Given the description of an element on the screen output the (x, y) to click on. 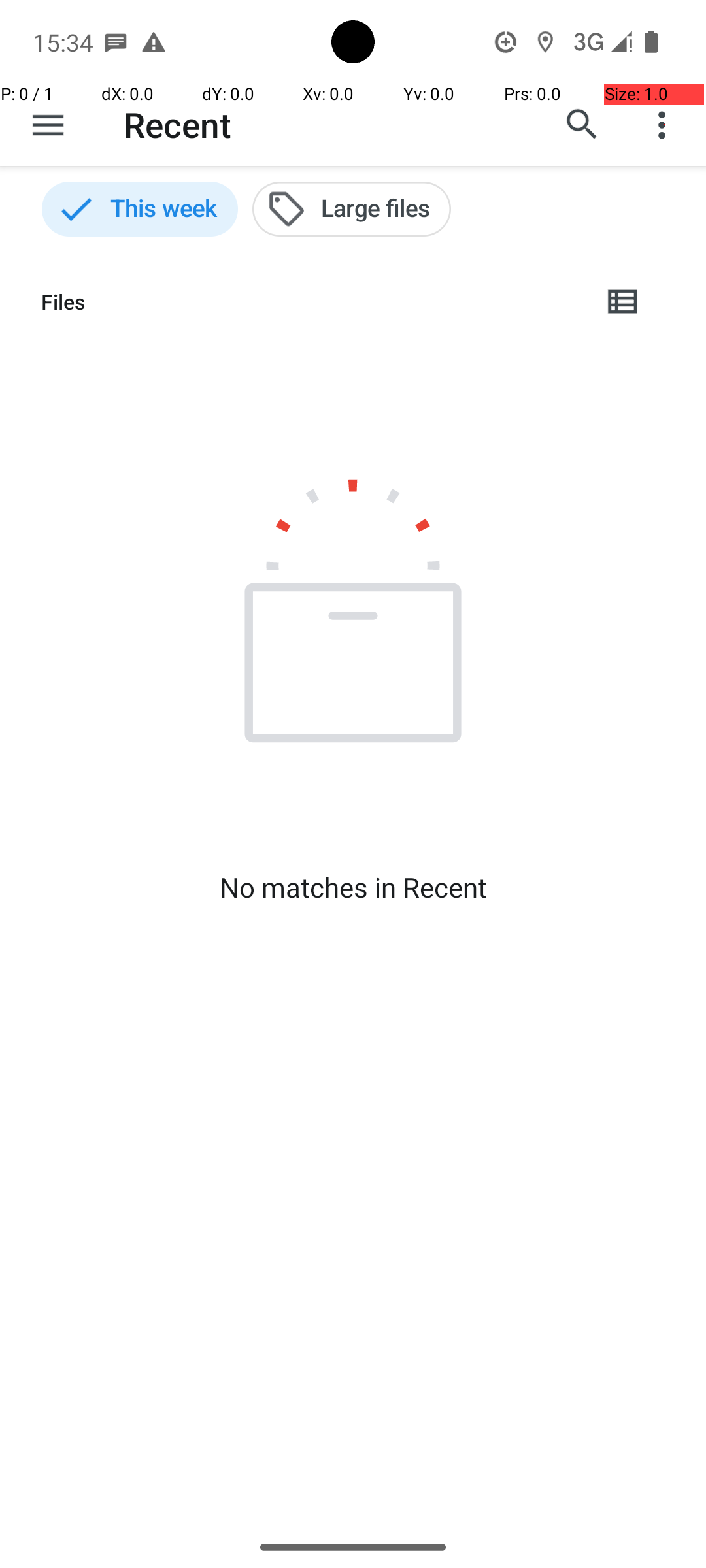
Show roots Element type: android.widget.ImageButton (48, 124)
Recent Element type: android.widget.TextView (177, 124)
Files Element type: android.widget.TextView (311, 301)
List view Element type: android.widget.TextView (622, 301)
This week Element type: android.widget.CompoundButton (139, 208)
Large files Element type: android.widget.CompoundButton (351, 208)
No matches in Recent Element type: android.widget.TextView (352, 886)
